Given the description of an element on the screen output the (x, y) to click on. 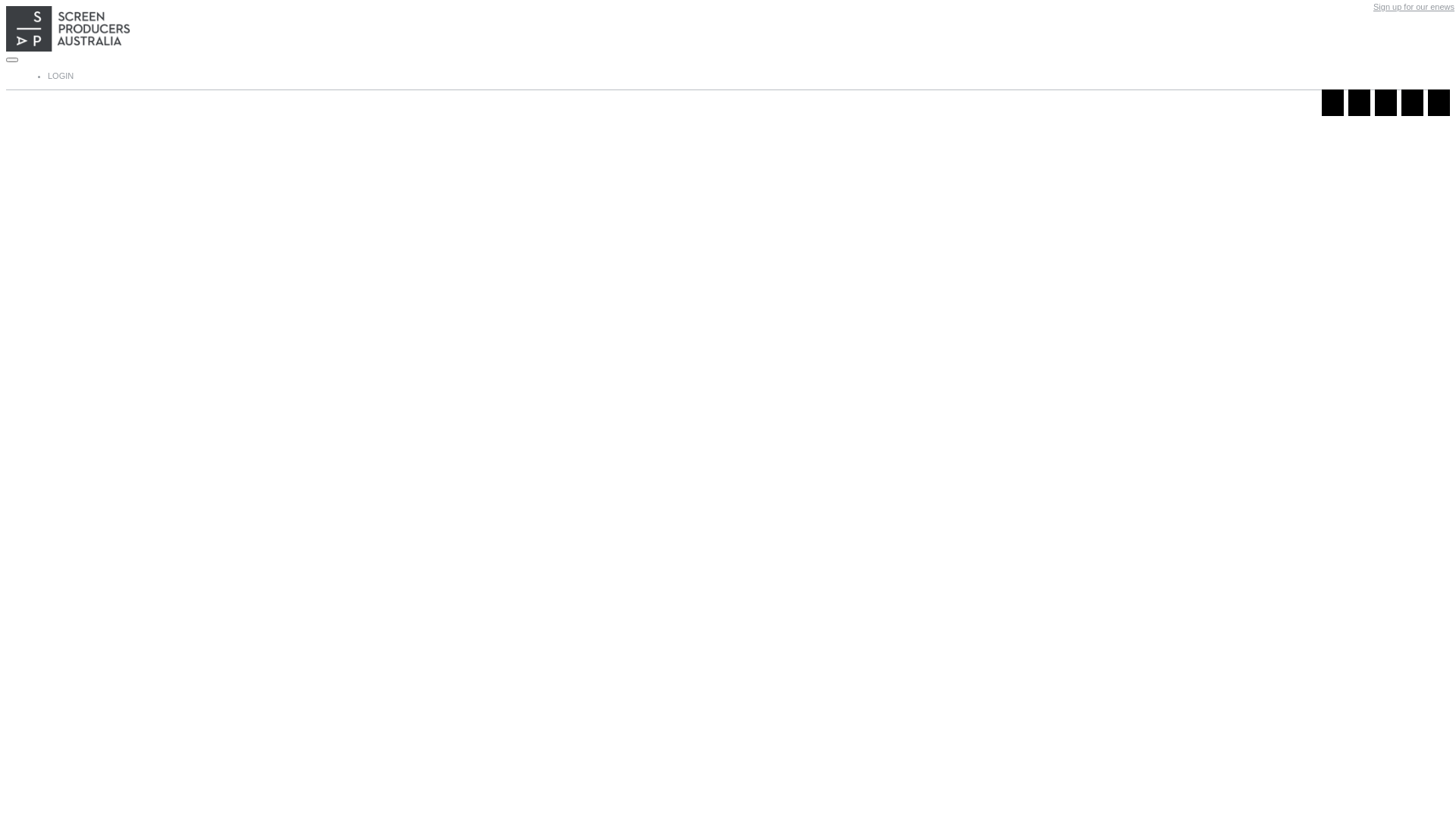
Screen Producers Australia Element type: text (727, 33)
LOGIN Element type: text (60, 75)
Sign up for our enews Element type: text (1413, 6)
